Given the description of an element on the screen output the (x, y) to click on. 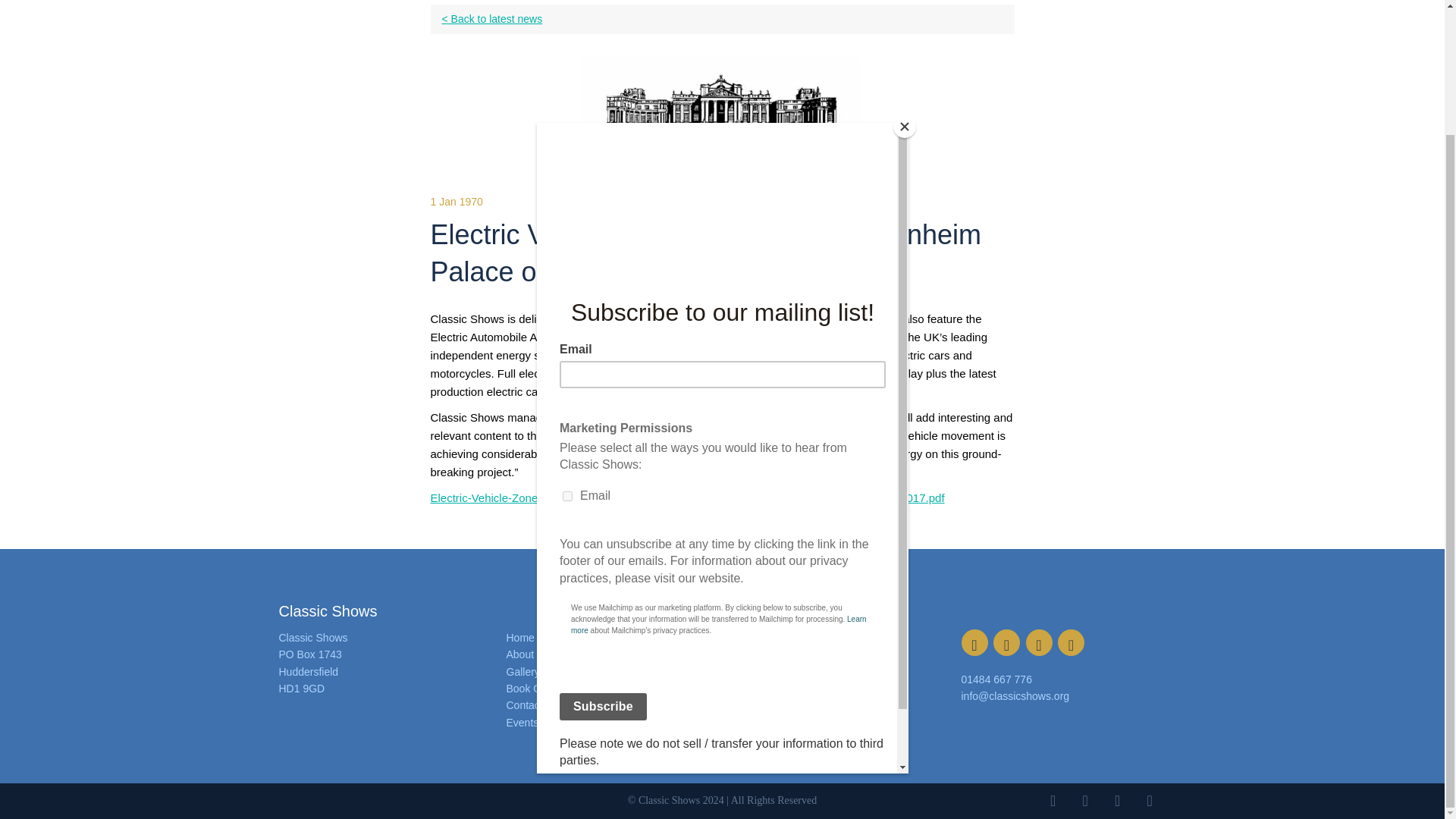
Book Online (535, 688)
About Us (528, 654)
Contact (524, 705)
Gallery (523, 671)
Home (520, 637)
